Given the description of an element on the screen output the (x, y) to click on. 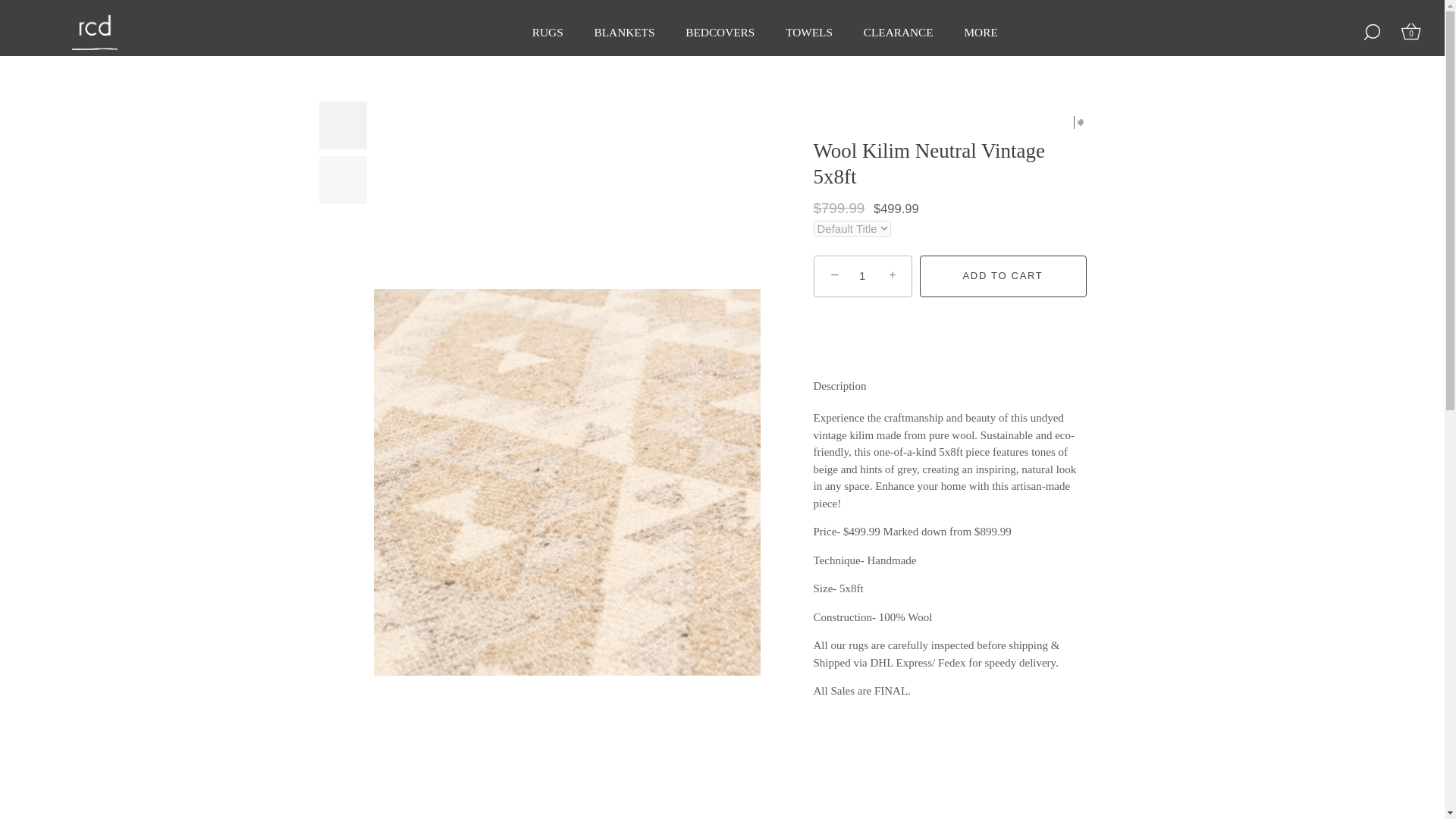
TOWELS (808, 32)
MORE (980, 32)
BEDCOVERS (719, 32)
0 (1411, 32)
BLANKETS (623, 32)
RUGS (547, 32)
CLEARANCE (897, 32)
